Given the description of an element on the screen output the (x, y) to click on. 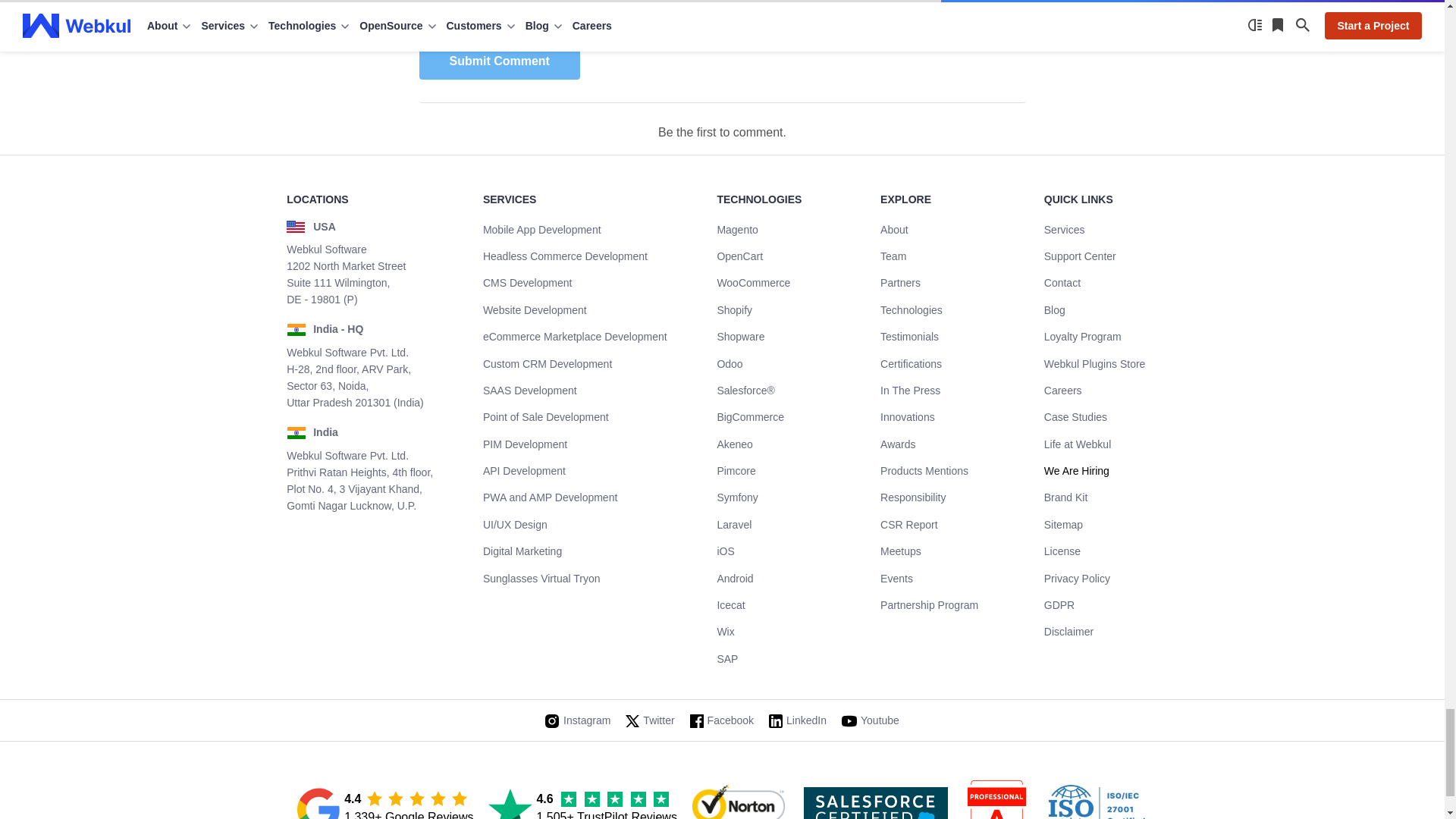
Submit Comment (499, 61)
